Given the description of an element on the screen output the (x, y) to click on. 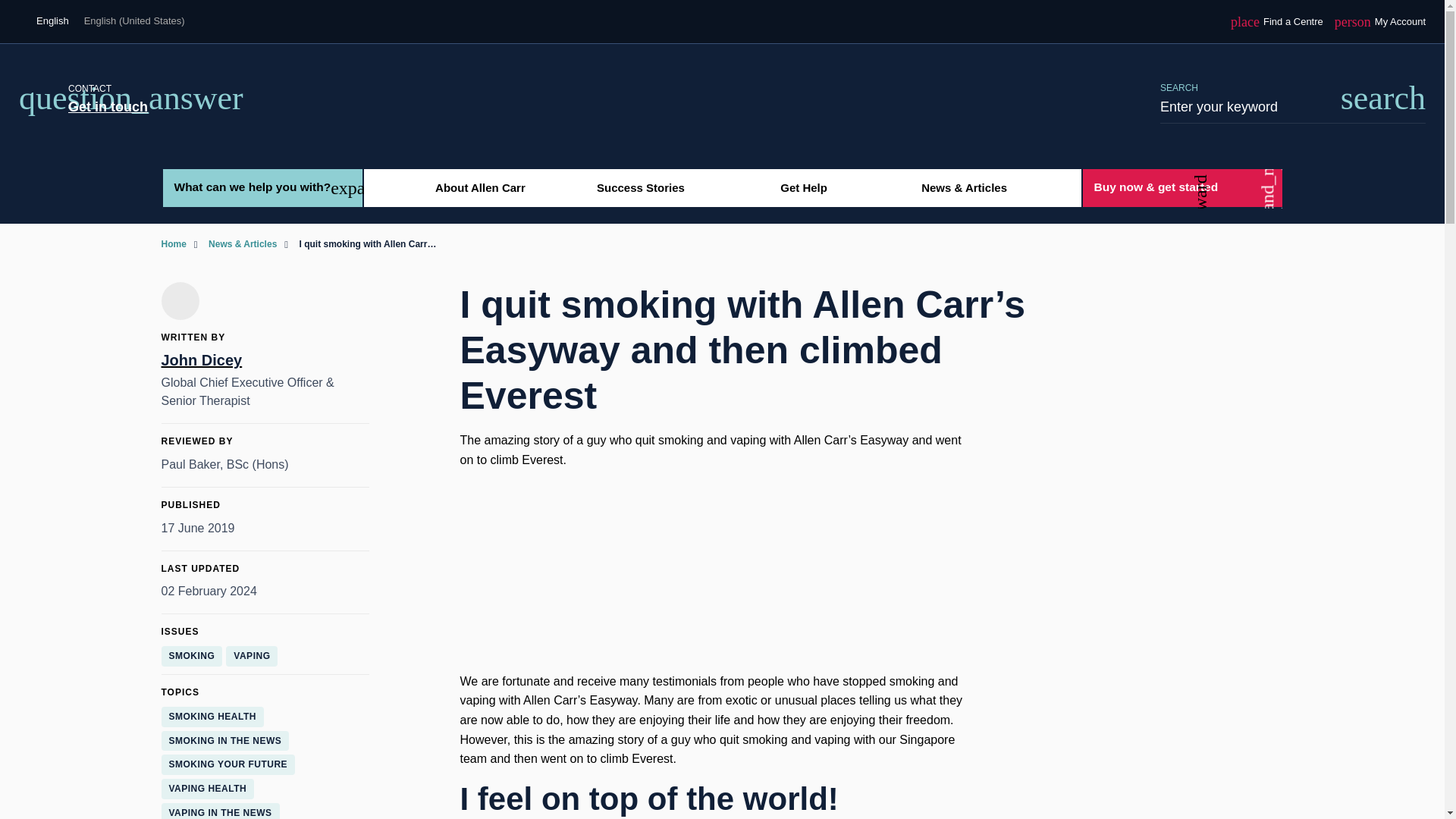
Find a Centre (1276, 21)
Success Stories (1276, 21)
Home - Allen Carr's Easyway (640, 187)
About Allen Carr (722, 150)
John Dicey Bio (480, 187)
Get in touch (264, 360)
Get Help (108, 106)
search (803, 187)
My Account (1382, 98)
English (1380, 21)
